Given the description of an element on the screen output the (x, y) to click on. 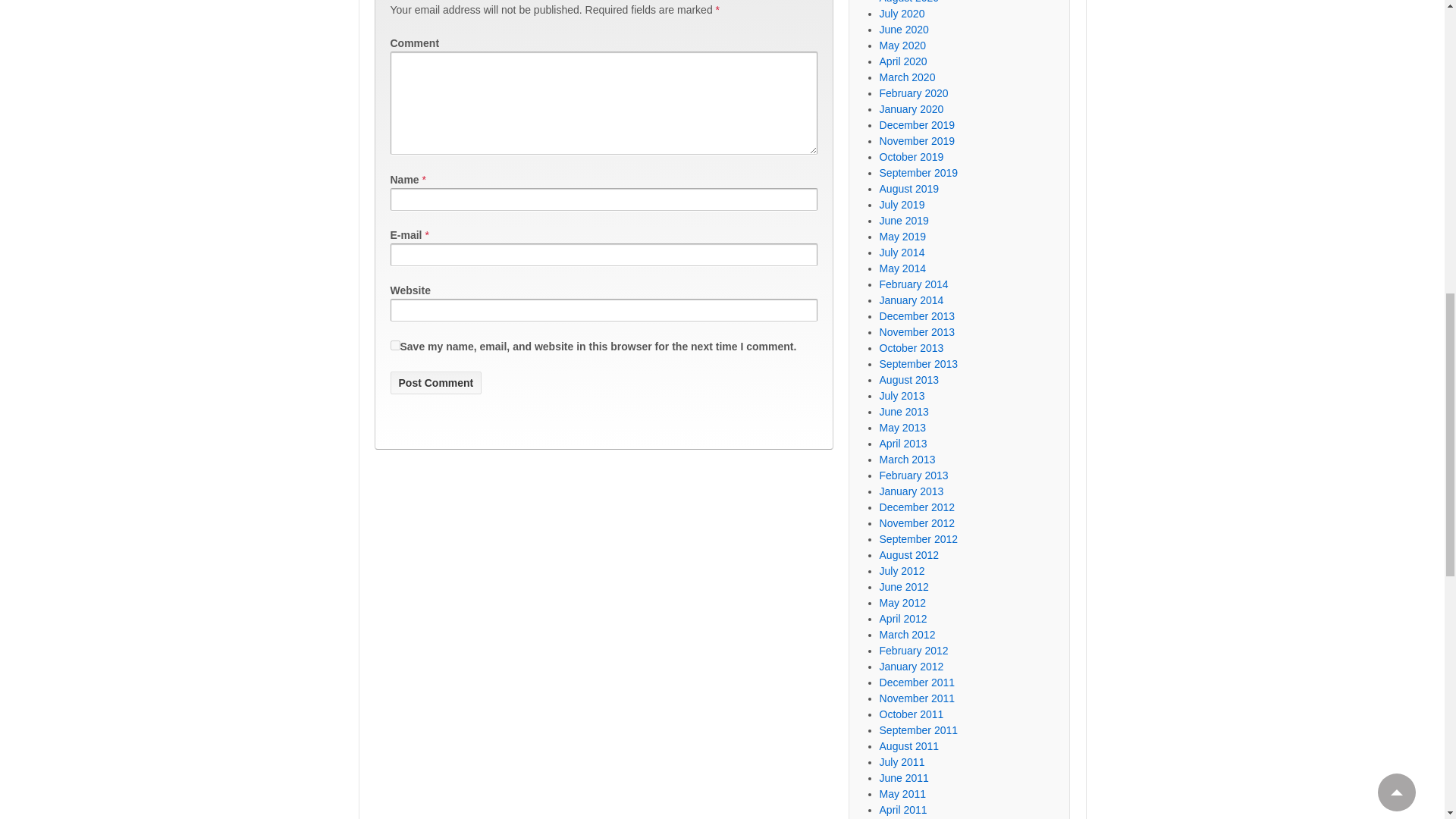
Post Comment (435, 382)
yes (394, 345)
Post Comment (435, 382)
